Given the description of an element on the screen output the (x, y) to click on. 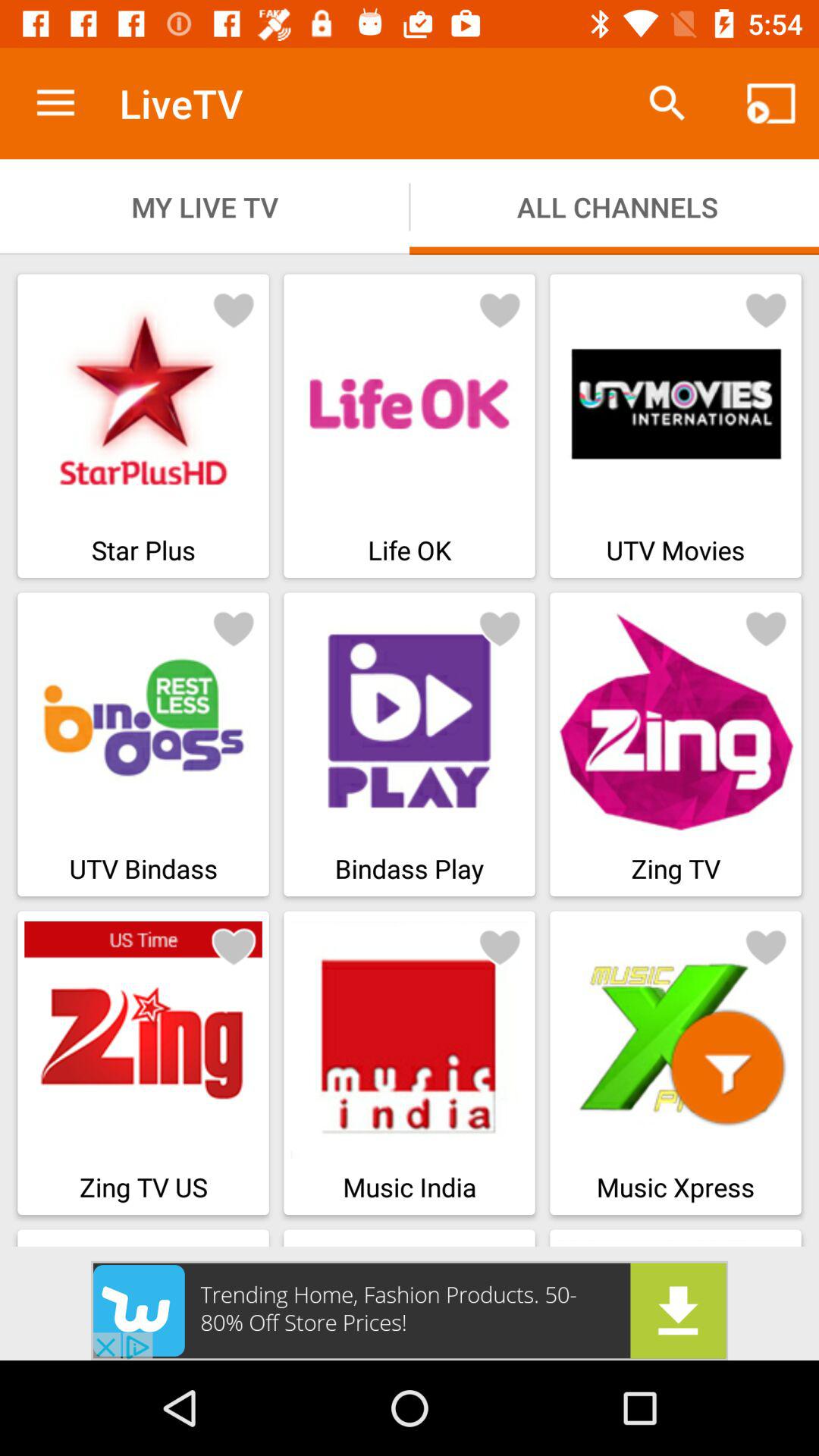
menu pega (233, 627)
